Given the description of an element on the screen output the (x, y) to click on. 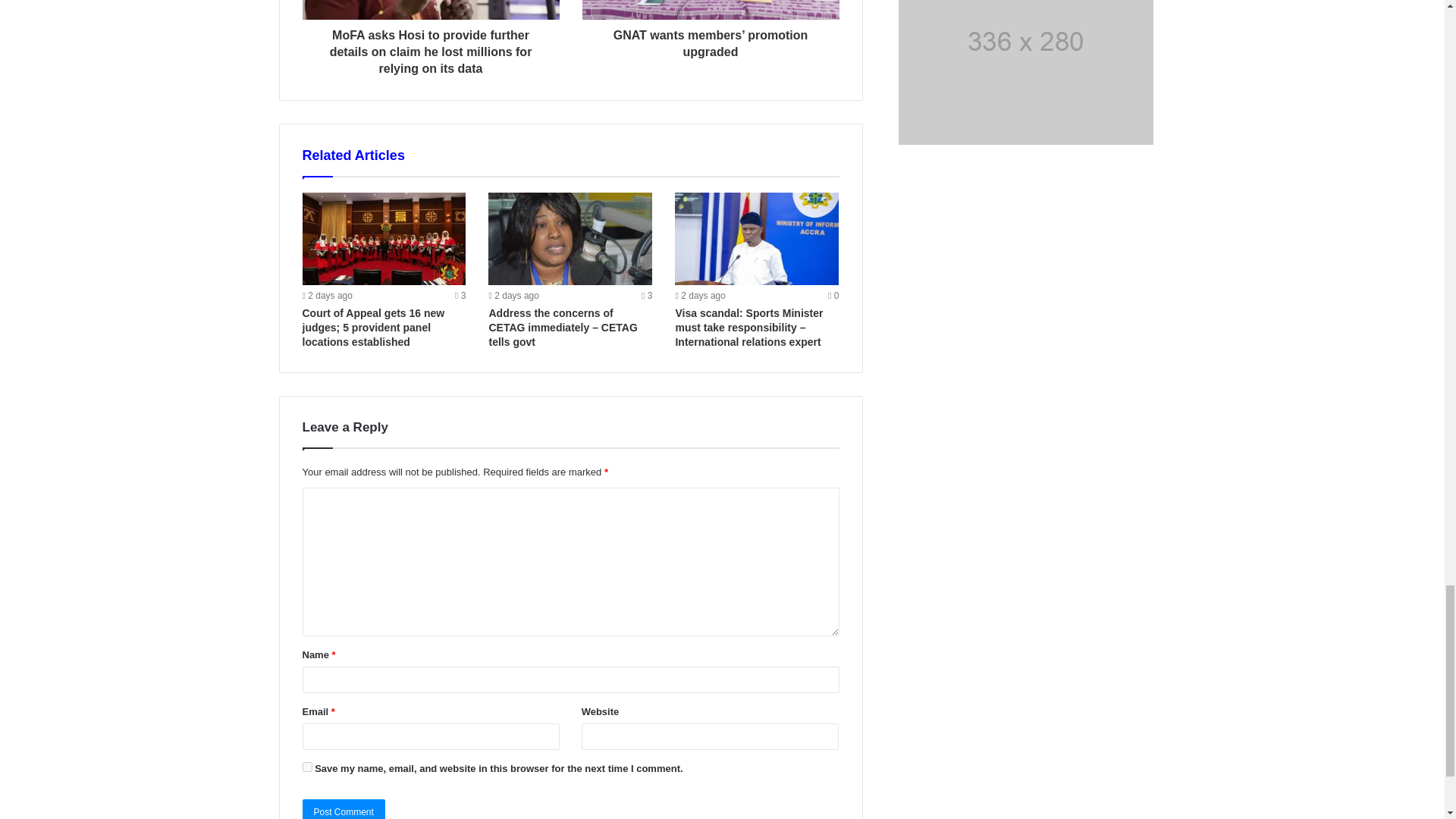
Post Comment (342, 809)
yes (306, 767)
